Given the description of an element on the screen output the (x, y) to click on. 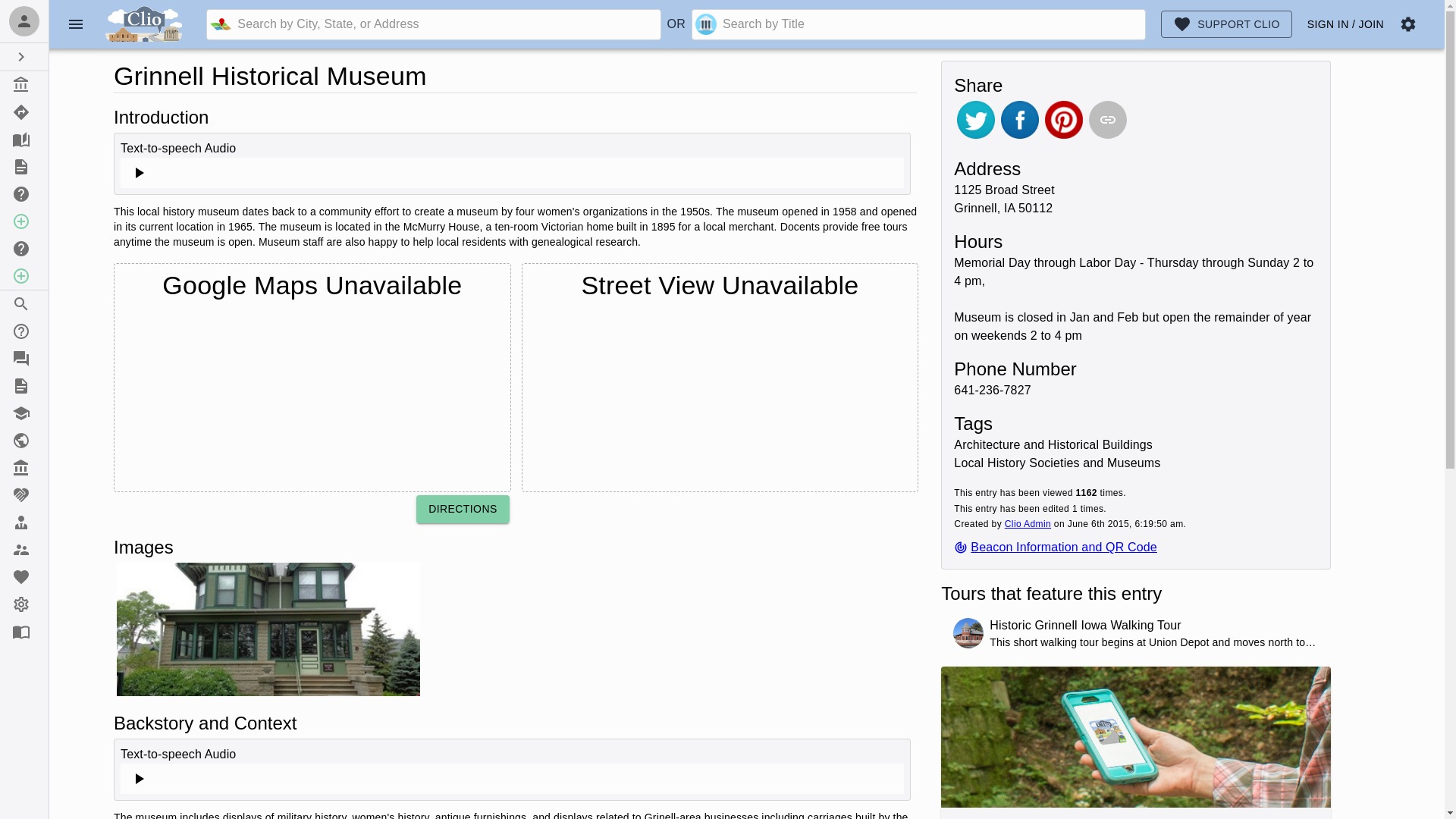
Individual Entries (24, 84)
Login (24, 21)
Guides, Videos, and Rubrics (24, 385)
How to Create an Entry (24, 194)
Create a New Tour (24, 275)
Clio Admin (1027, 523)
SUPPORT CLIO (1226, 24)
Clio for Museums (24, 467)
Open Drawer (24, 56)
Create a New Entry (24, 221)
Explore By Topic (24, 139)
Tours (24, 112)
Clio for Historic Preservation (24, 440)
Clio in the Classroom (24, 412)
Search (24, 303)
